Given the description of an element on the screen output the (x, y) to click on. 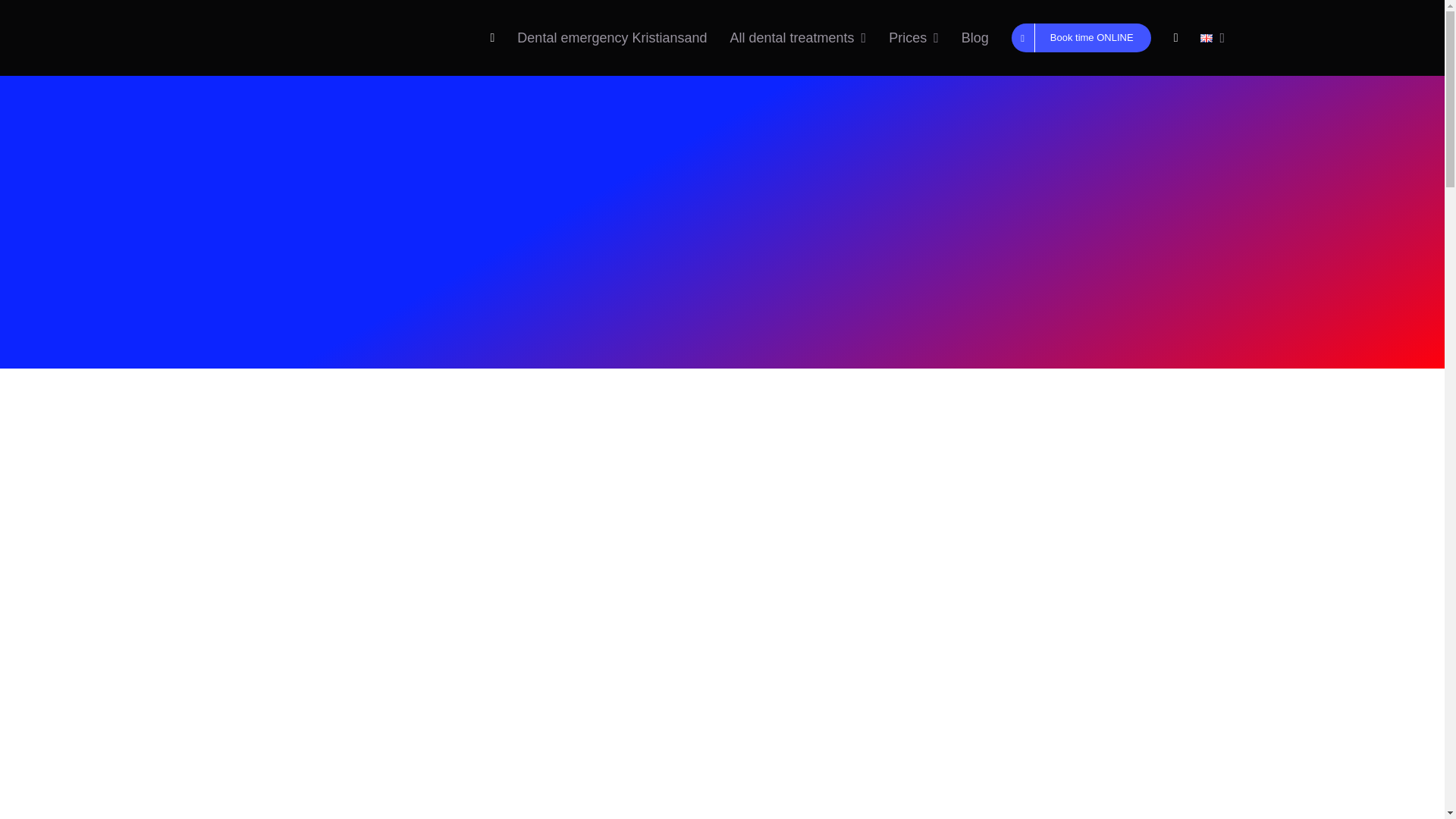
Dental emergency Kristiansand (611, 38)
All dental treatments (797, 38)
Book time ONLINE (1081, 38)
